Given the description of an element on the screen output the (x, y) to click on. 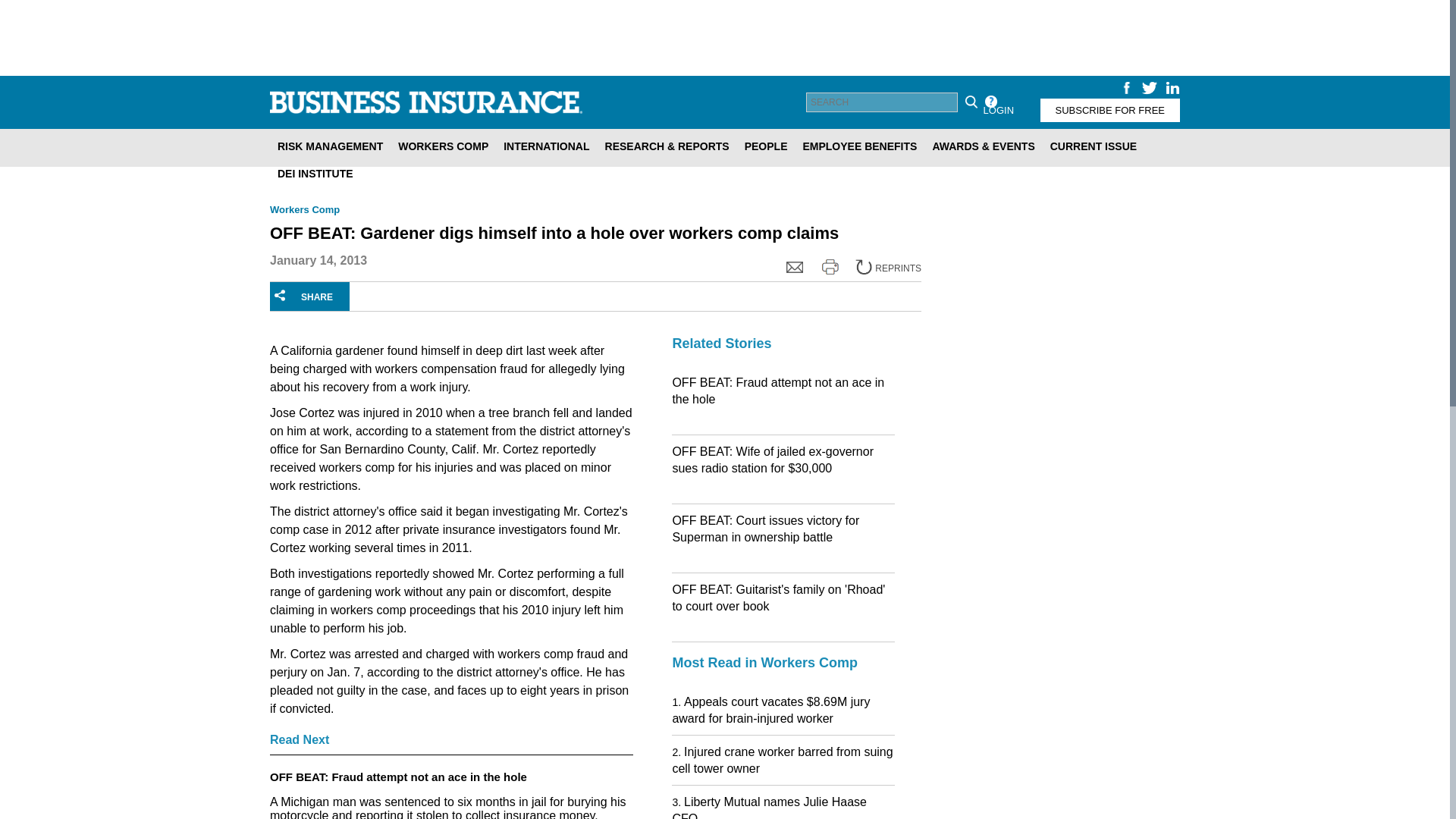
SUBSCRIBE FOR FREE (1110, 110)
WORKERS COMP (443, 145)
INTERNATIONAL (546, 145)
RISK MANAGEMENT (329, 145)
Help (990, 101)
PEOPLE (765, 145)
LOGIN (998, 110)
